Given the description of an element on the screen output the (x, y) to click on. 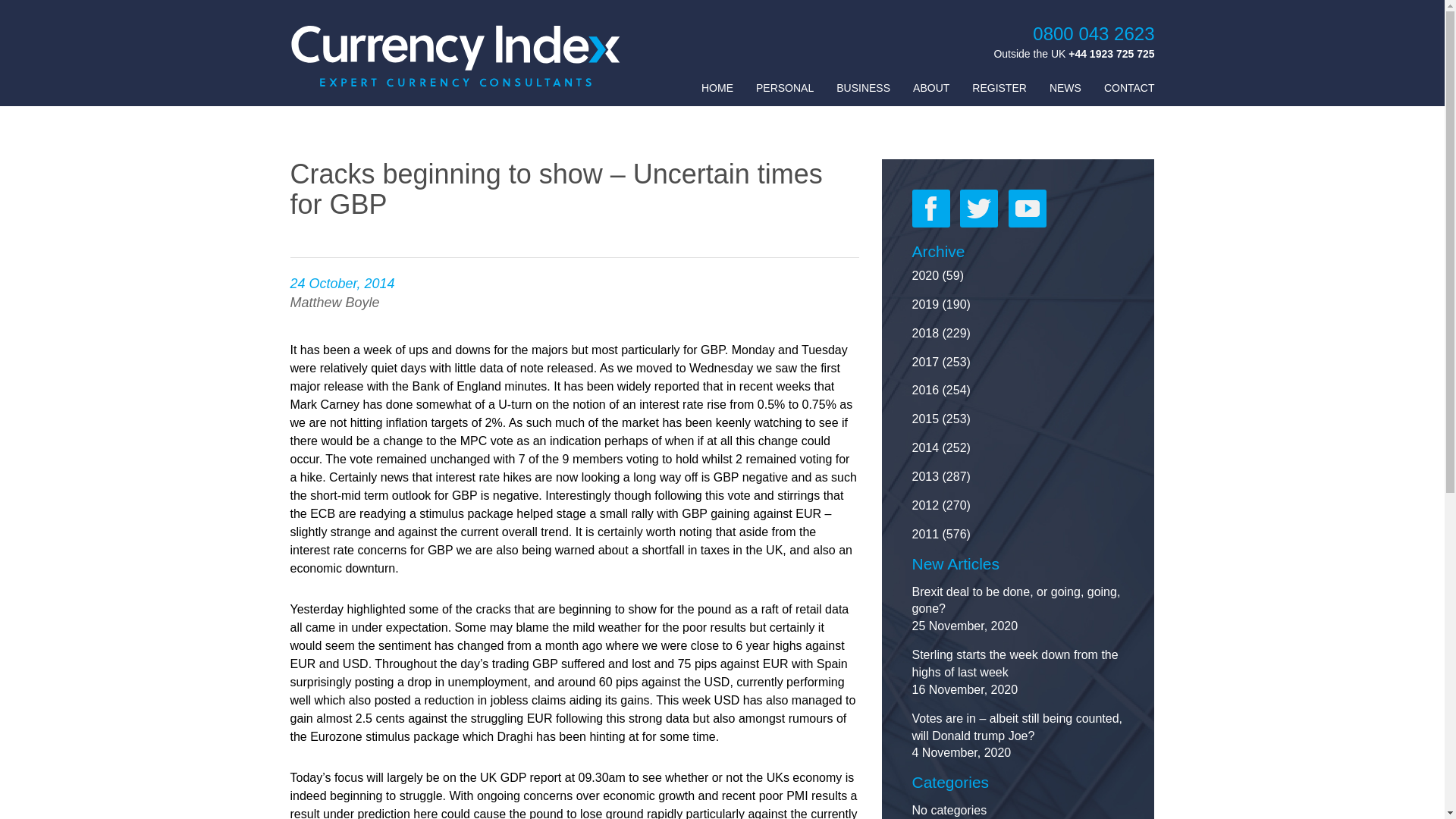
2012 (925, 504)
2016 (925, 390)
2018 (925, 332)
ABOUT (930, 87)
Share (1393, 16)
2020 (925, 275)
BUSINESS (862, 87)
2019 (925, 304)
2011 (925, 533)
2015 (925, 418)
